Given the description of an element on the screen output the (x, y) to click on. 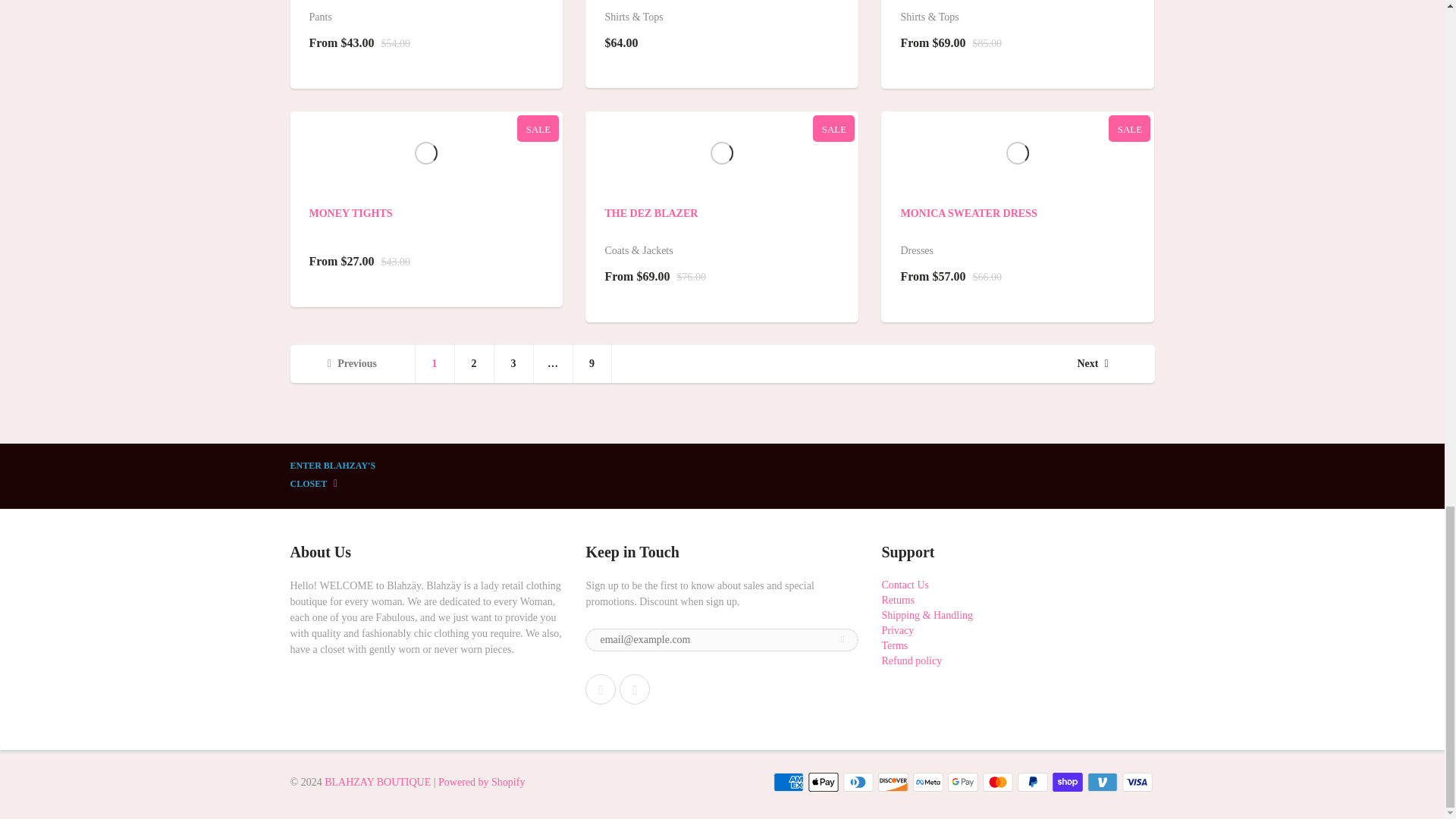
Shop Pay (1067, 782)
Meta Pay (927, 782)
Diners Club (858, 782)
American Express (788, 782)
Discover (892, 782)
Google Pay (962, 782)
Visa (1137, 782)
PayPal (1032, 782)
Venmo (1102, 782)
Mastercard (997, 782)
Apple Pay (823, 782)
